Given the description of an element on the screen output the (x, y) to click on. 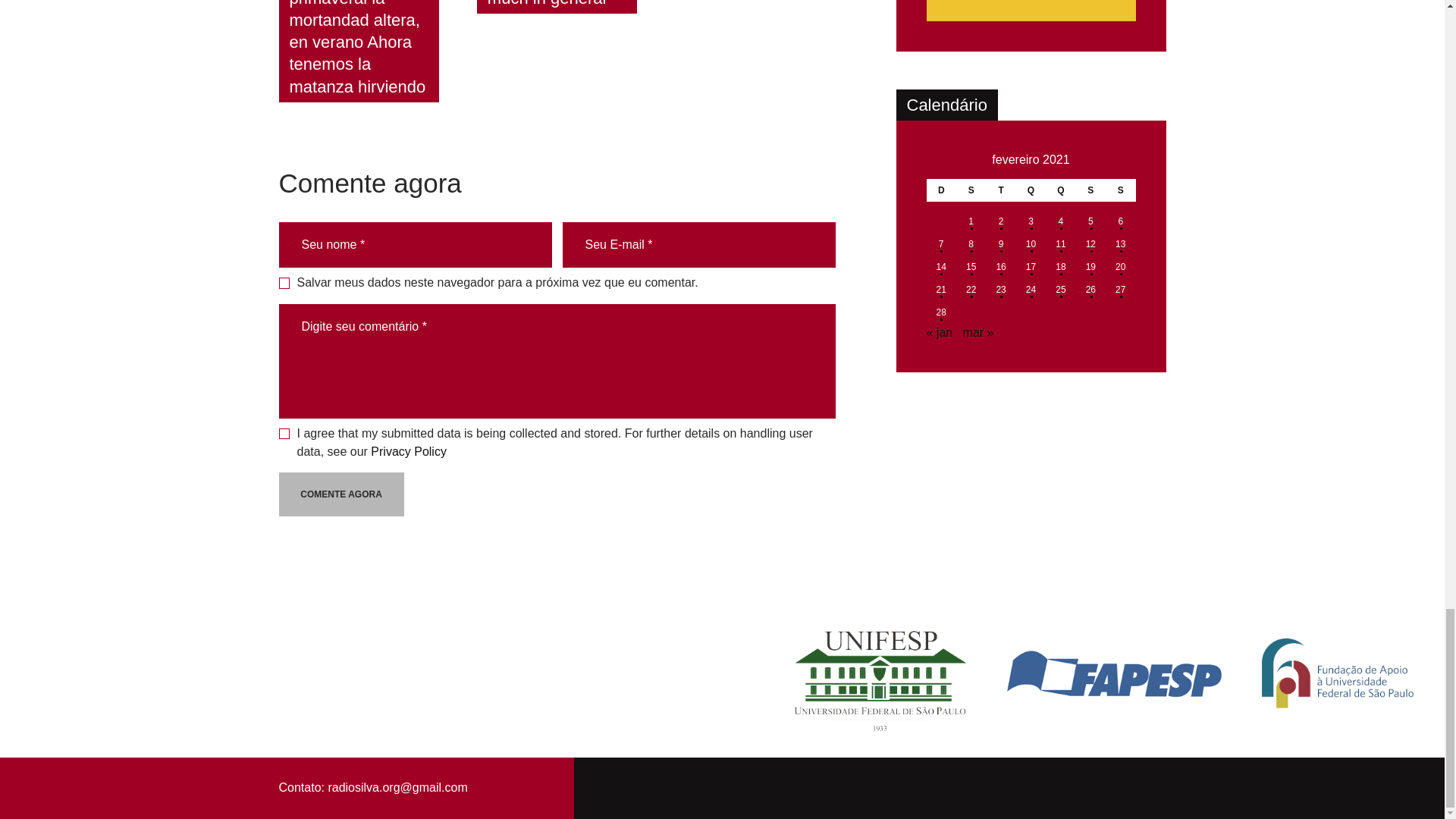
Privacy Policy (408, 451)
Comente agora (341, 494)
sexta-feira (1090, 190)
Comente agora (341, 494)
quinta-feira (1060, 190)
domingo (941, 190)
quarta-feira (1030, 190)
segunda-feira (970, 190)
